Given the description of an element on the screen output the (x, y) to click on. 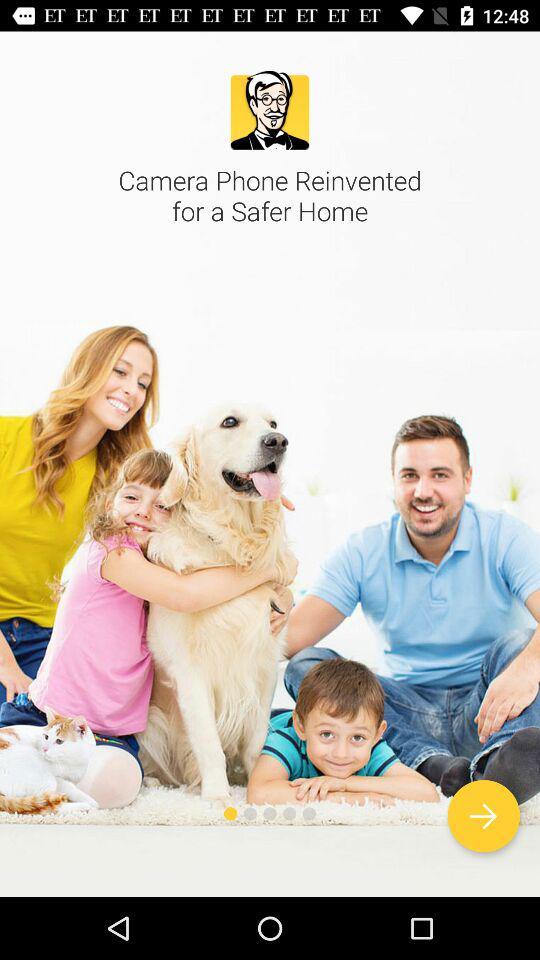
go to next screen (483, 816)
